Given the description of an element on the screen output the (x, y) to click on. 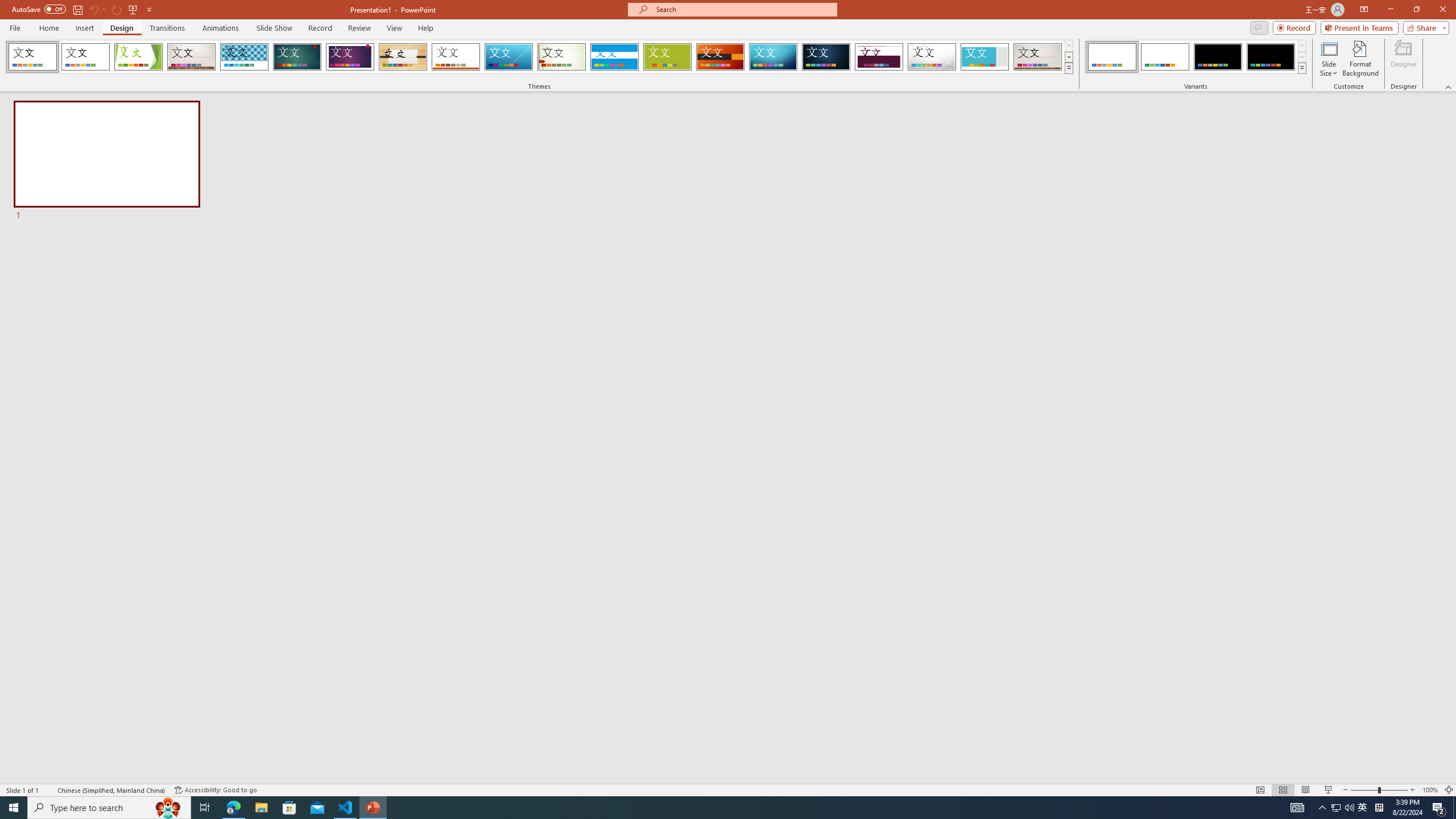
Berlin Loading Preview... (720, 56)
Ion Boardroom Loading Preview... (350, 56)
Ion Loading Preview... (296, 56)
Themes (1068, 67)
Office Theme (85, 56)
Designer (1403, 58)
